Given the description of an element on the screen output the (x, y) to click on. 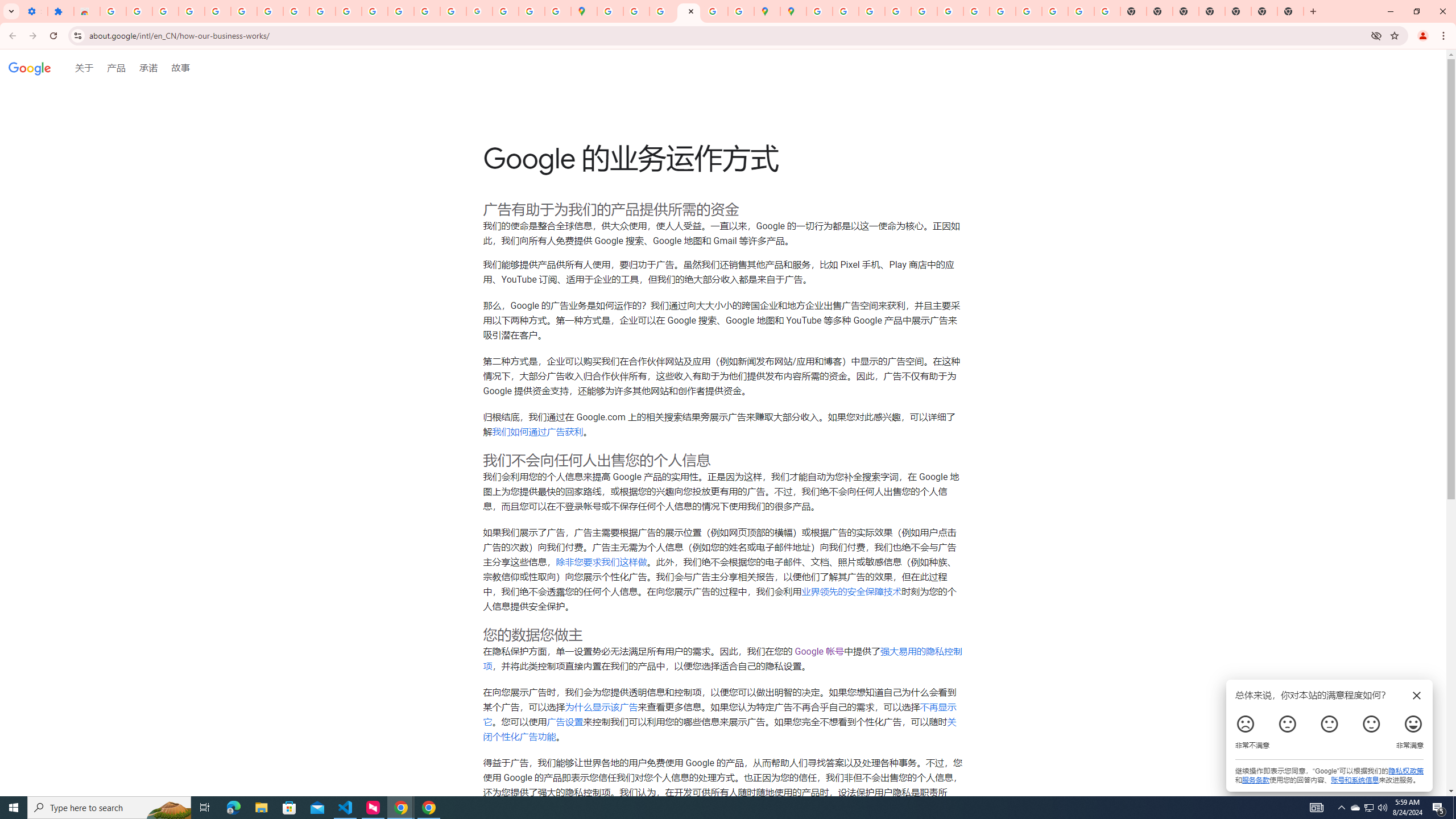
Delete photos & videos - Computer - Google Photos Help (165, 11)
Google Account (296, 11)
New Tab (1290, 11)
